Given the description of an element on the screen output the (x, y) to click on. 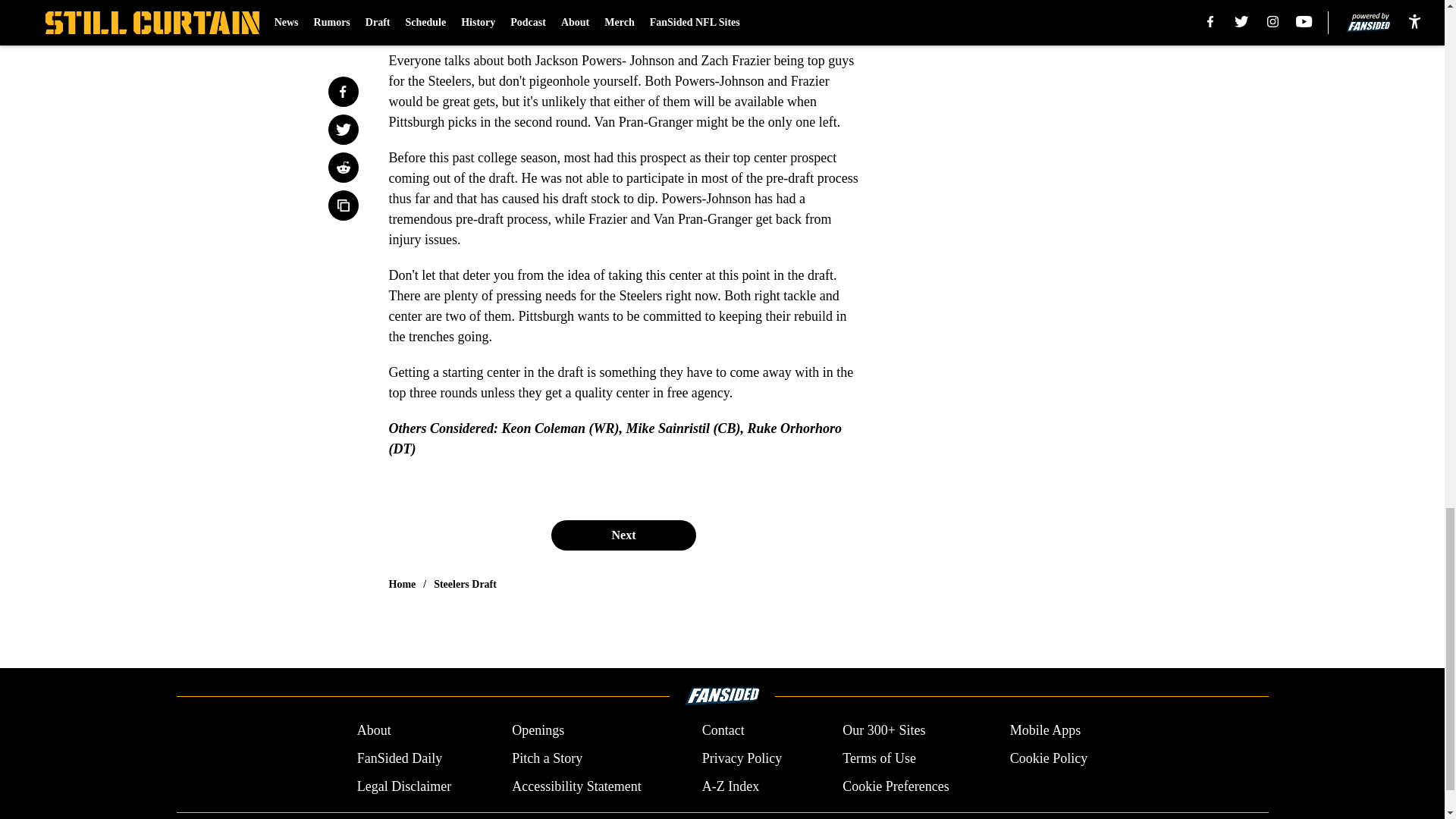
Home (401, 584)
Next (622, 535)
Mobile Apps (1045, 730)
Openings (538, 730)
Steelers Draft (464, 584)
FanSided Daily (399, 758)
About (373, 730)
Contact (722, 730)
Pitch a Story (547, 758)
